Given the description of an element on the screen output the (x, y) to click on. 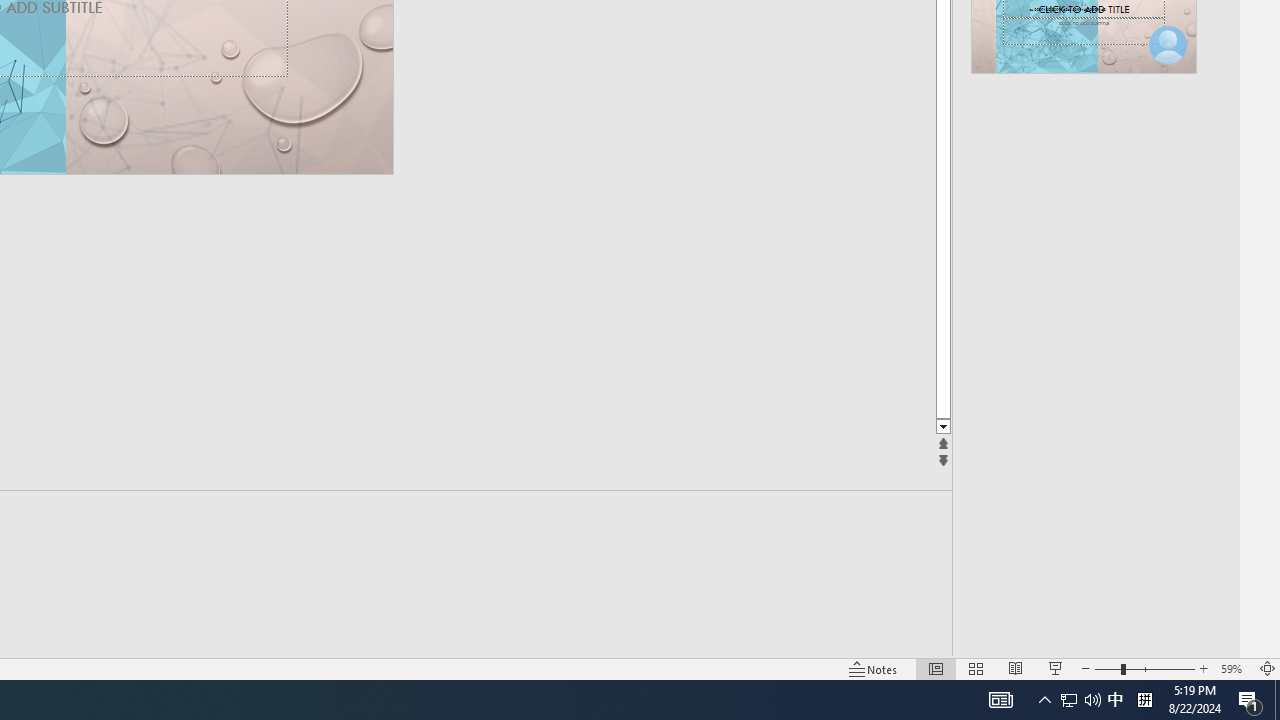
Zoom 59% (1234, 668)
